Given the description of an element on the screen output the (x, y) to click on. 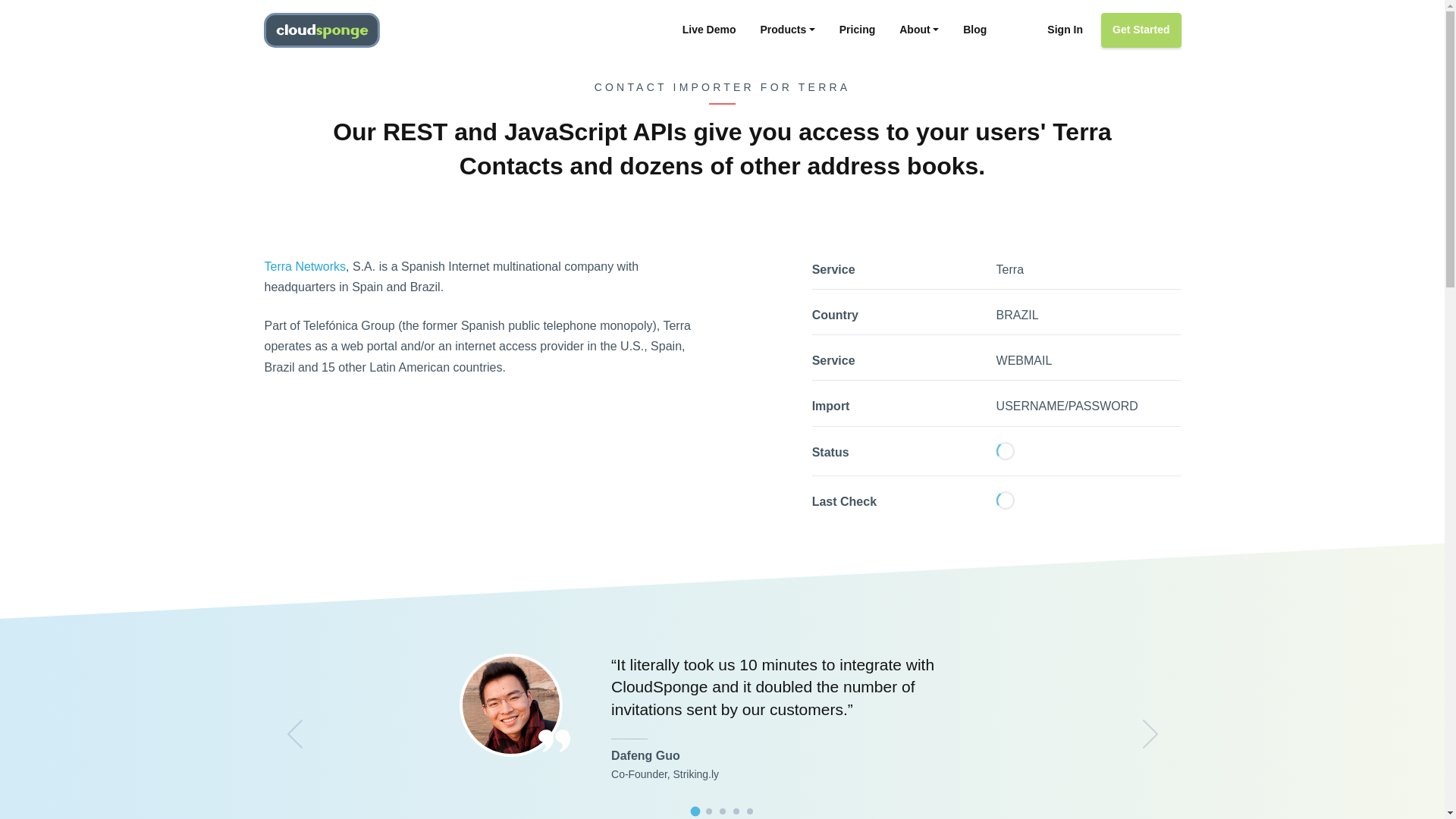
Terra Networks (304, 266)
2 (707, 811)
Pricing (856, 30)
Sign In (1065, 30)
Get Started (1140, 30)
About (918, 30)
5 (748, 811)
Next (1149, 733)
Products (787, 30)
Blog (974, 30)
